Given the description of an element on the screen output the (x, y) to click on. 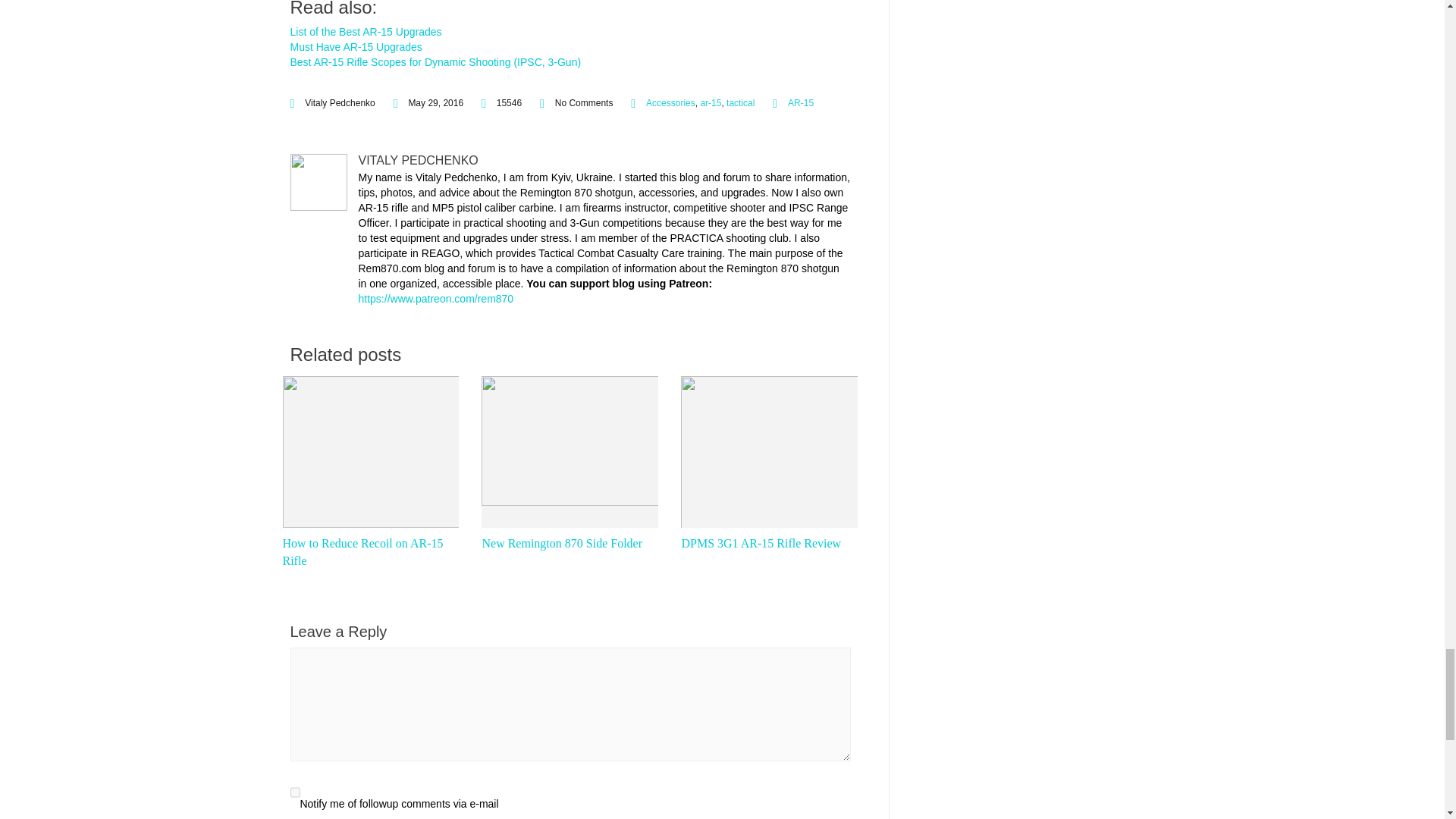
Must Have AR-15 Upgrades (355, 46)
tactical (740, 102)
Accessories (670, 102)
List of the Best AR-15 Upgrades (365, 31)
ar-15 (710, 102)
AR-15 (800, 102)
